Given the description of an element on the screen output the (x, y) to click on. 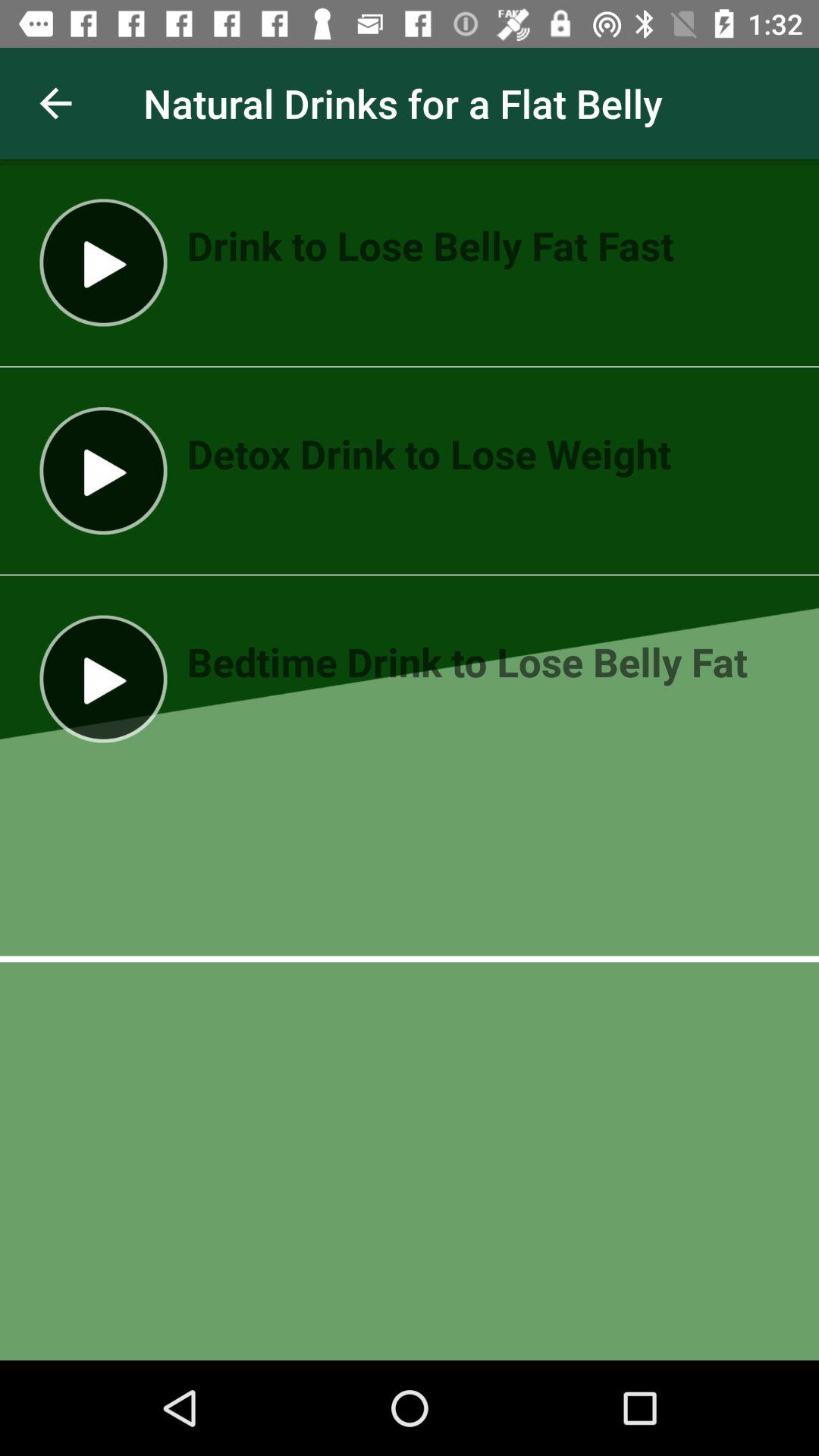
turn on the item to the left of the natural drinks for item (55, 103)
